Given the description of an element on the screen output the (x, y) to click on. 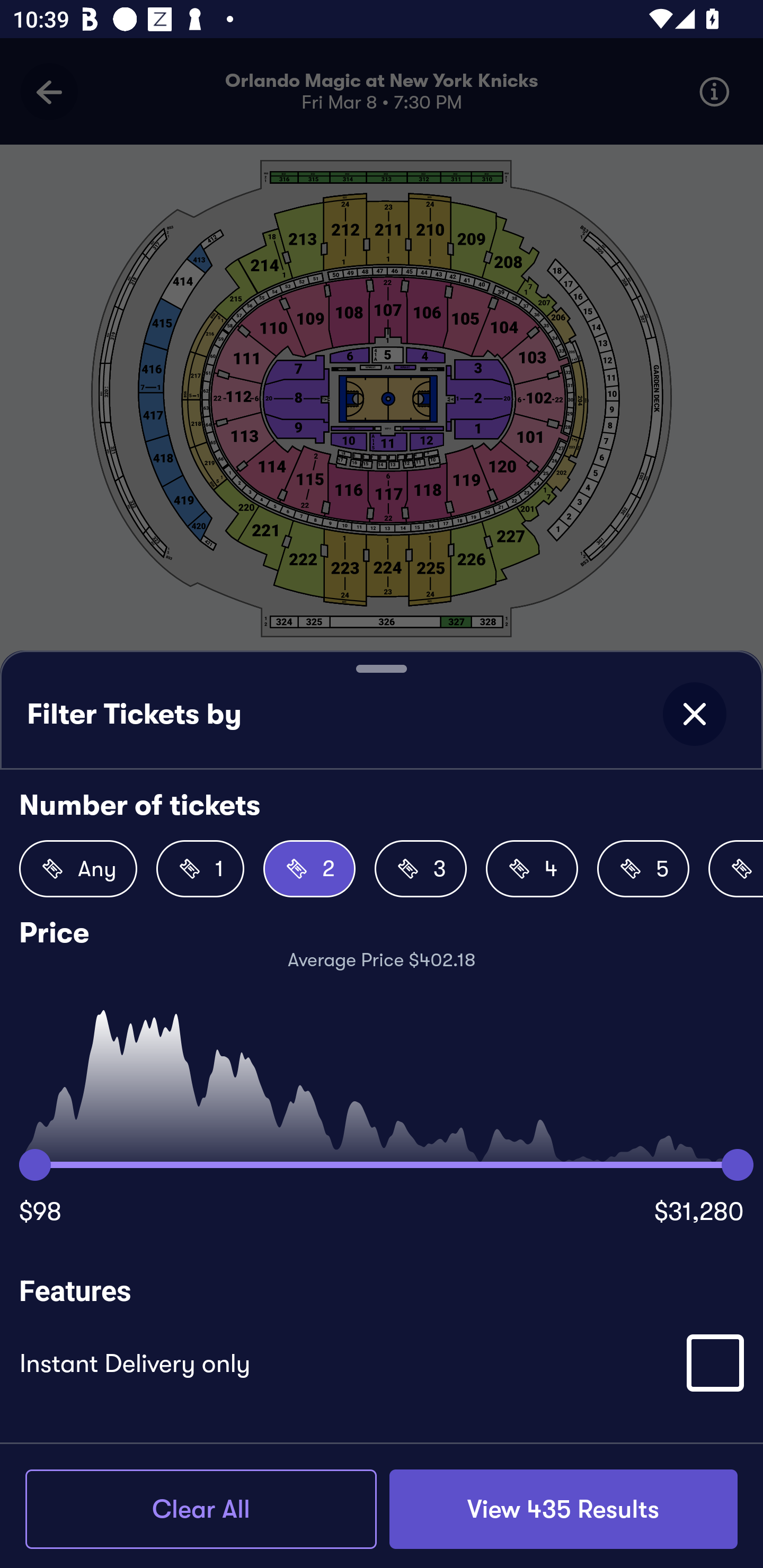
close (694, 714)
Any (78, 868)
1 (200, 868)
2 (309, 868)
3 (420, 868)
4 (532, 868)
5 (642, 868)
Clear All (200, 1509)
View 435 Results (563, 1509)
